Given the description of an element on the screen output the (x, y) to click on. 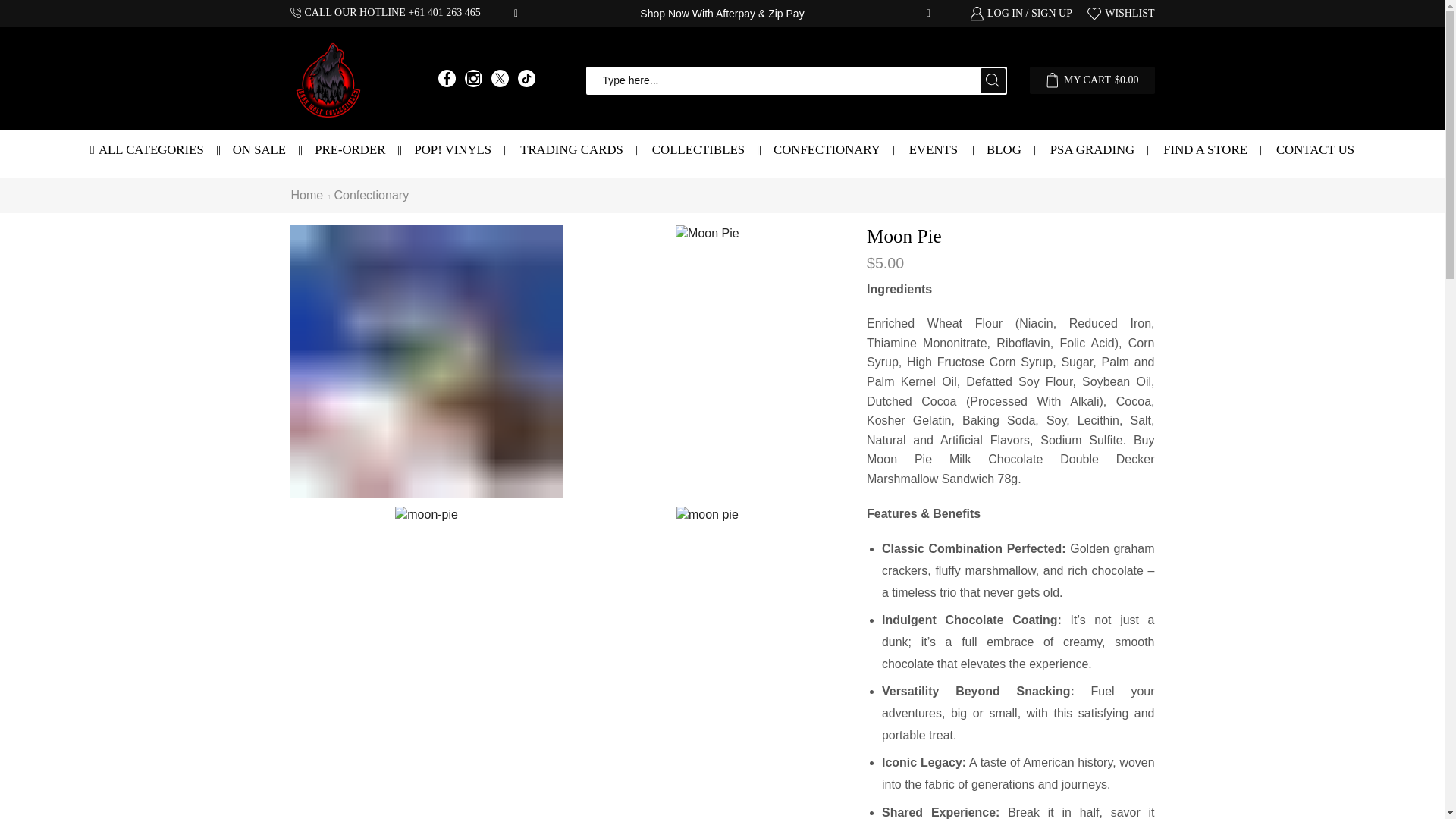
ALL CATEGORIES (146, 149)
moon pie (707, 515)
Log in (993, 306)
WISHLIST (1120, 13)
moon pie (425, 361)
